Given the description of an element on the screen output the (x, y) to click on. 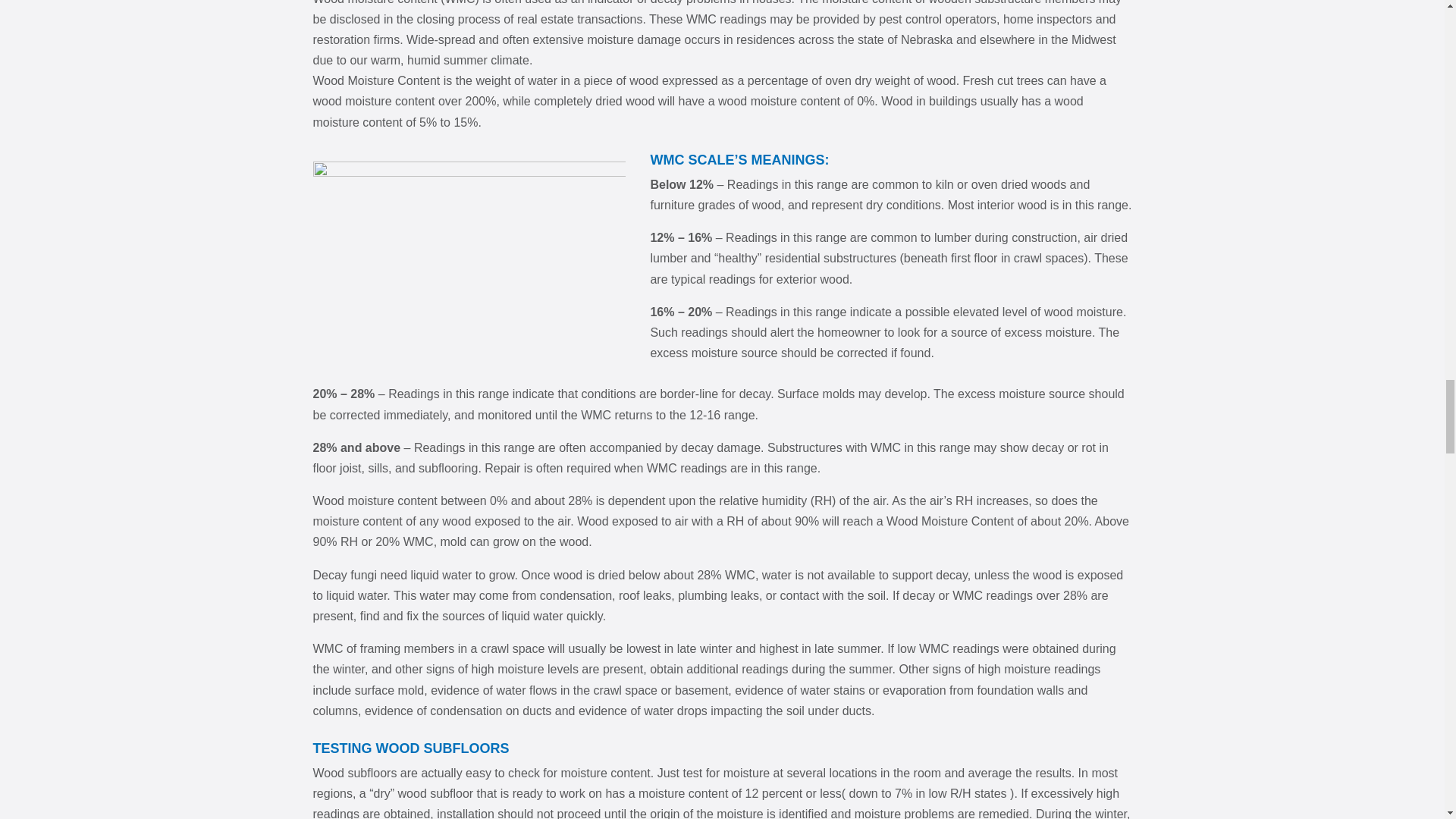
wood-moisture-content-hardwood-floor-water-damage (469, 260)
